Given the description of an element on the screen output the (x, y) to click on. 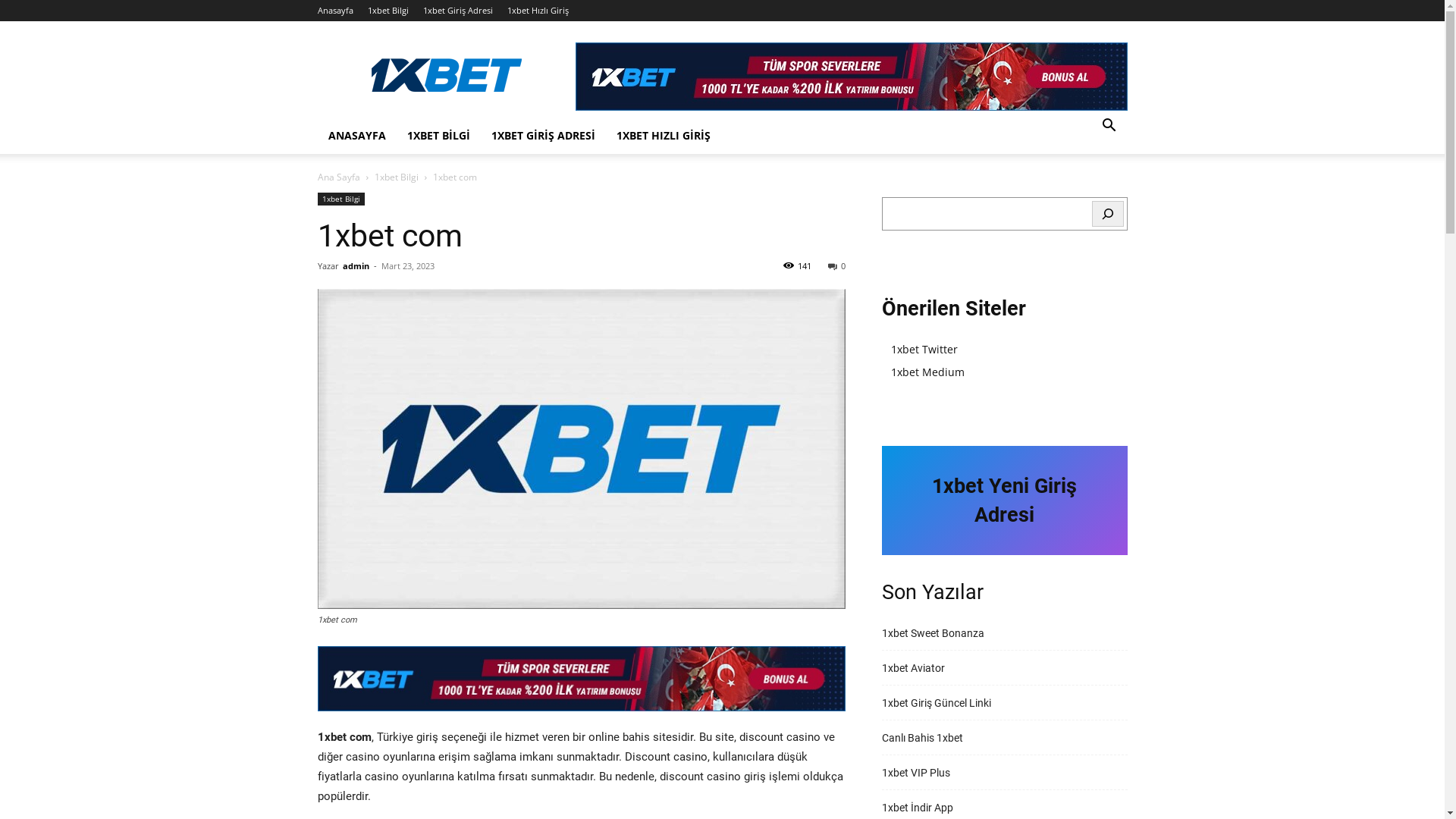
ANASAYFA Element type: text (355, 135)
1xbet Bilgi Element type: text (340, 198)
1xbet com Element type: hover (580, 448)
0 Element type: text (836, 265)
1xbet Sweet Bonanza Element type: text (932, 632)
Anasayfa Element type: text (334, 9)
1xbet Bilgi Element type: text (387, 9)
1XBET BILGI Element type: text (437, 135)
1xbet Bilgi Element type: text (396, 176)
1xbet Twitter Element type: text (923, 349)
1xbet Medium Element type: text (926, 371)
1xbet VIP Plus Element type: text (915, 772)
Ara Element type: text (1086, 174)
admin Element type: text (355, 265)
1xbet Aviator Element type: text (912, 667)
Ana Sayfa Element type: text (337, 176)
